Given the description of an element on the screen output the (x, y) to click on. 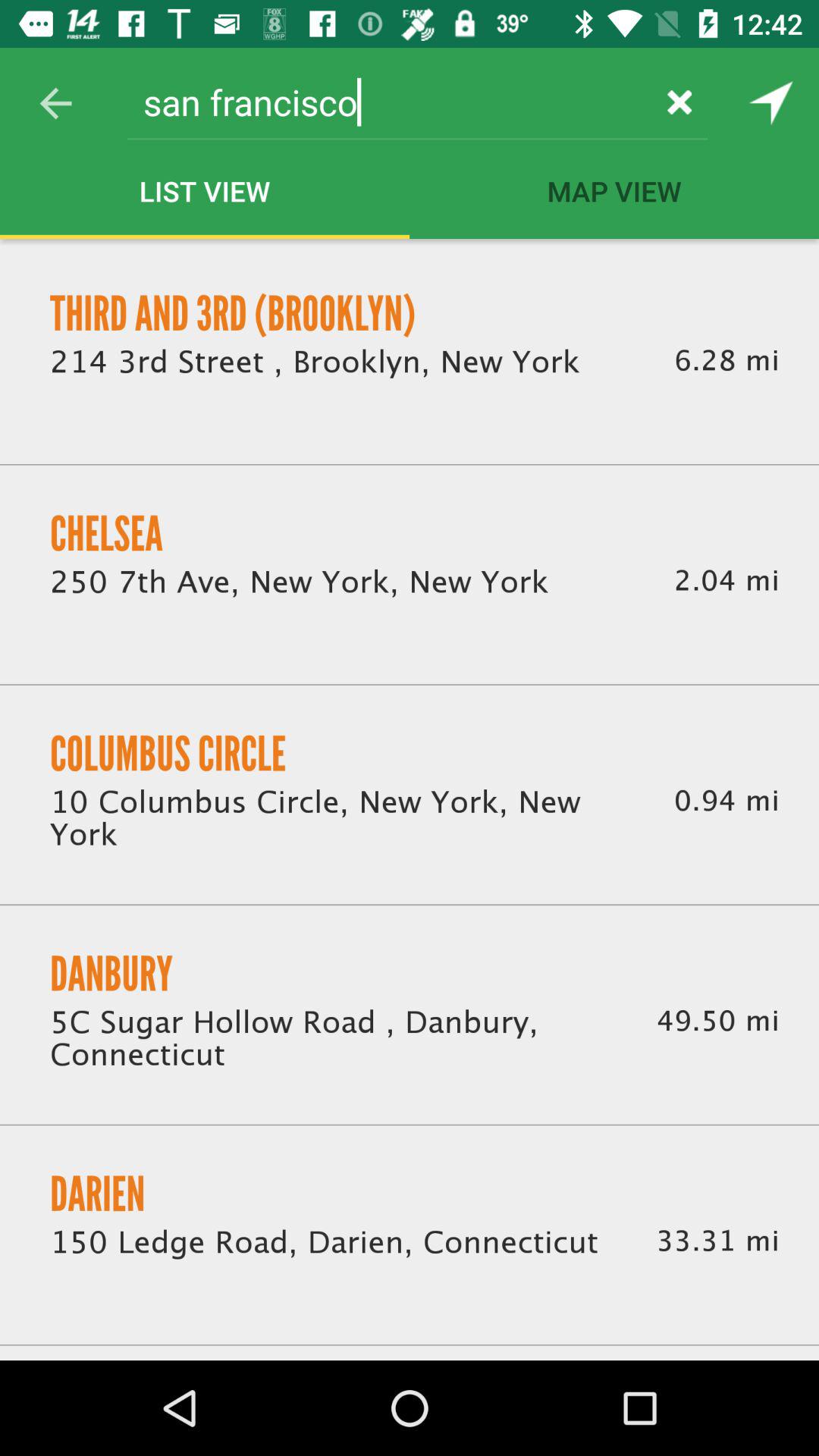
choose the icon next to the san francisco item (55, 103)
